Given the description of an element on the screen output the (x, y) to click on. 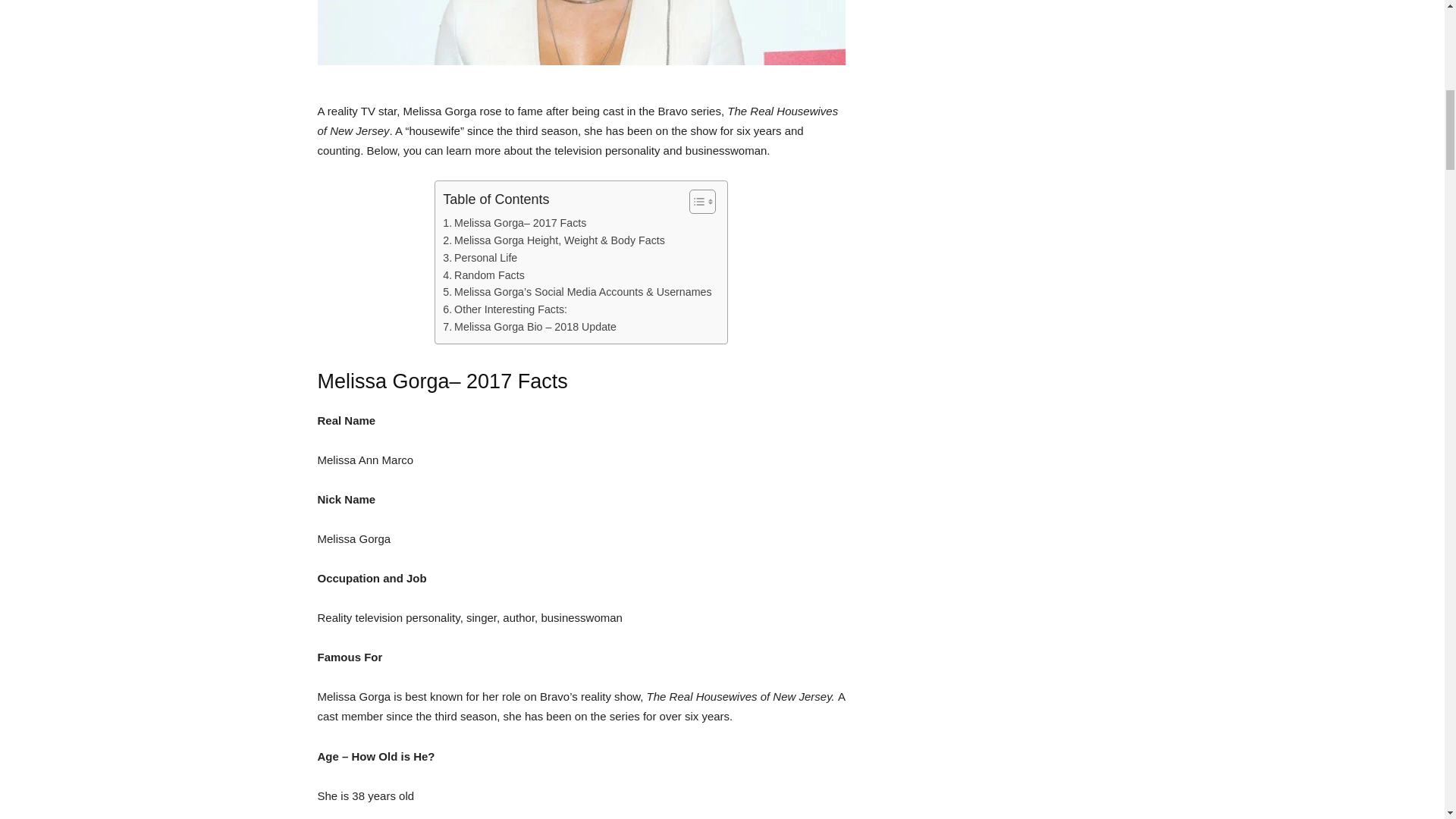
Personal Life (479, 257)
Other Interesting Facts: (504, 309)
melissa-gorga (580, 32)
Random Facts (483, 275)
